Given the description of an element on the screen output the (x, y) to click on. 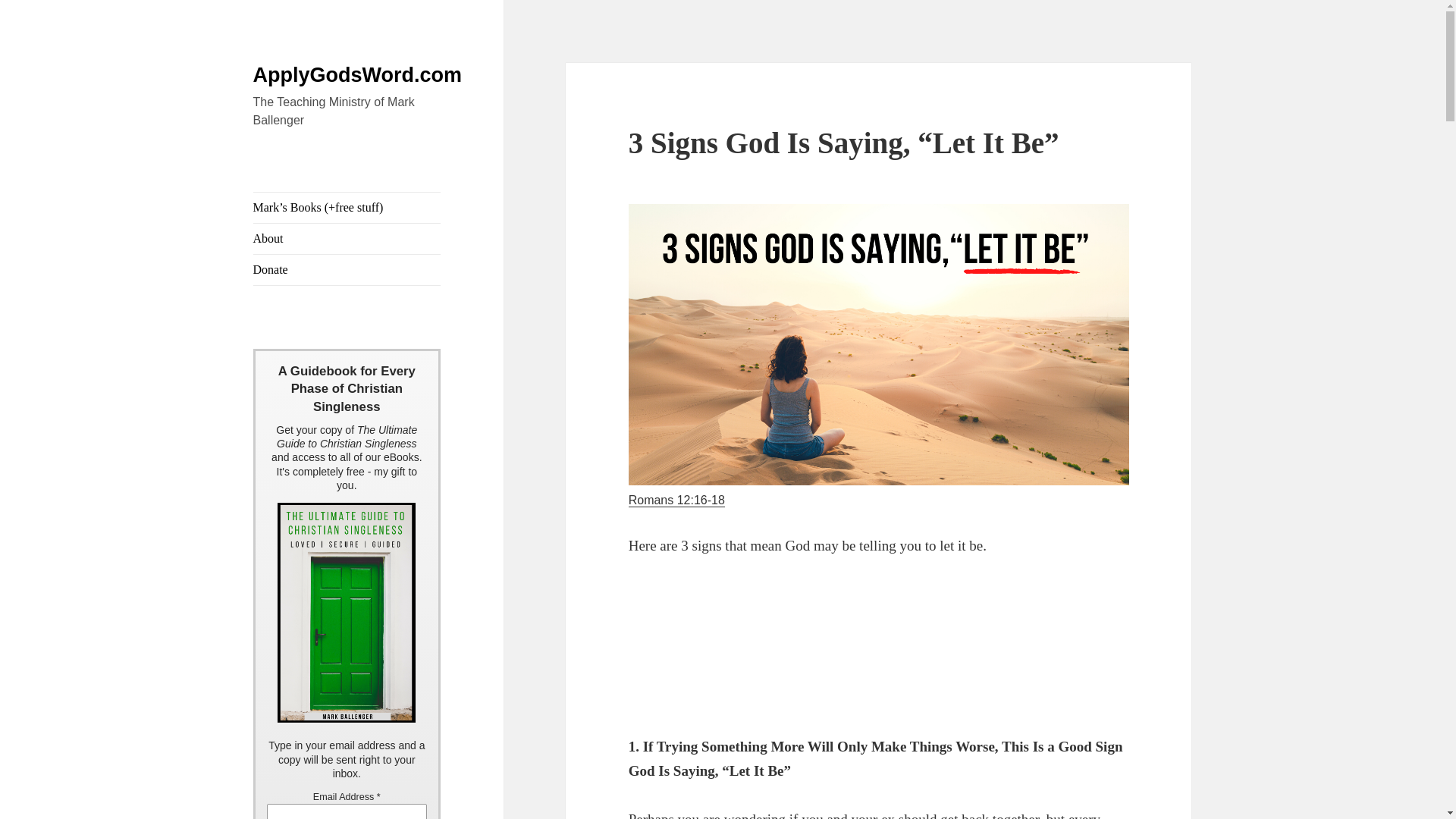
About (347, 238)
Donate (347, 269)
ApplyGodsWord.com (358, 74)
YouTube video player (742, 646)
